Given the description of an element on the screen output the (x, y) to click on. 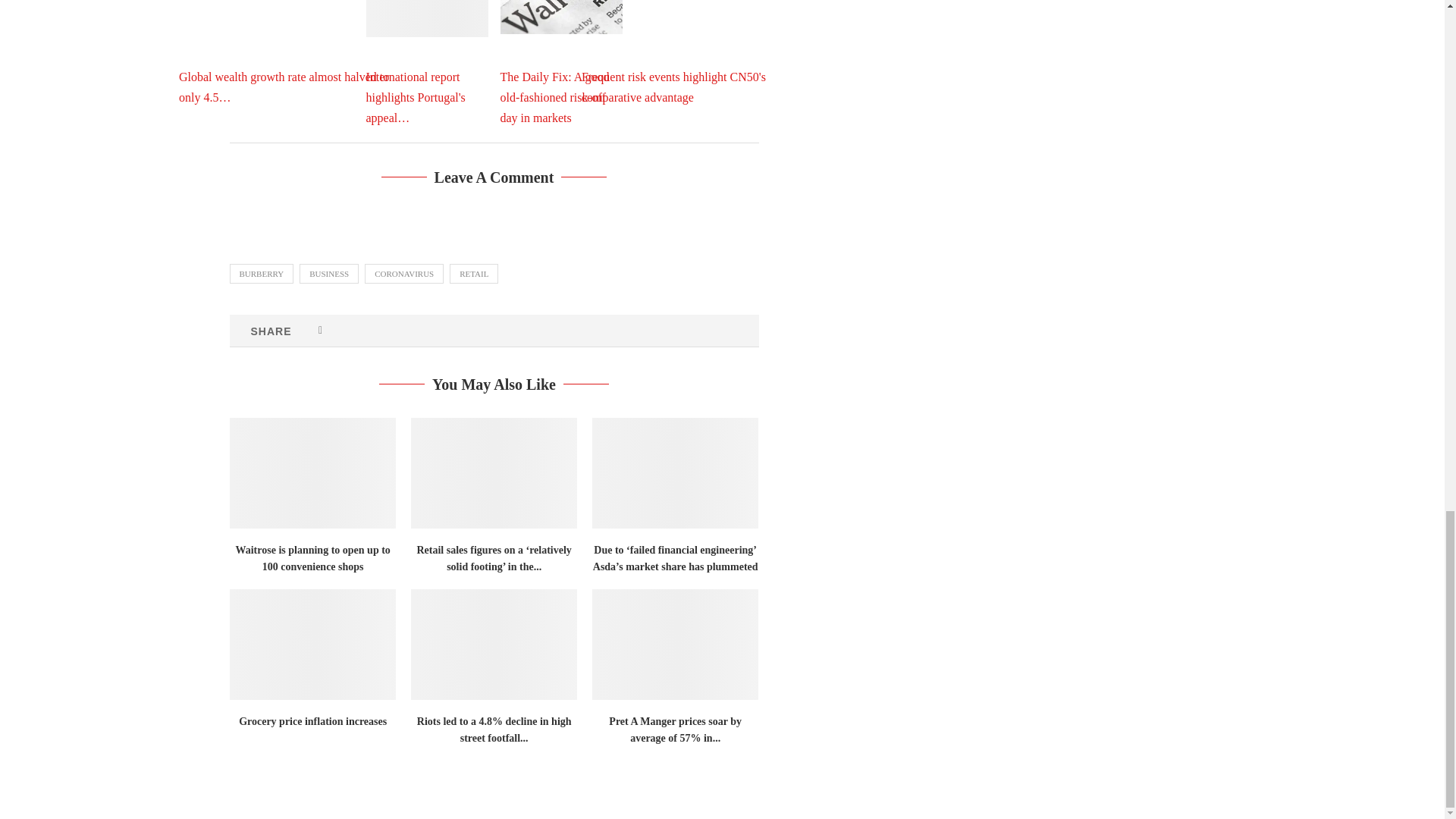
Frequent risk events highlight CN50's comparative advantage (694, 52)
Grocery price inflation increases (311, 644)
The Daily Fix: A good old-fashioned risk-off day in markets (561, 17)
Waitrose is planning to open up to 100 convenience shops (311, 472)
